Given the description of an element on the screen output the (x, y) to click on. 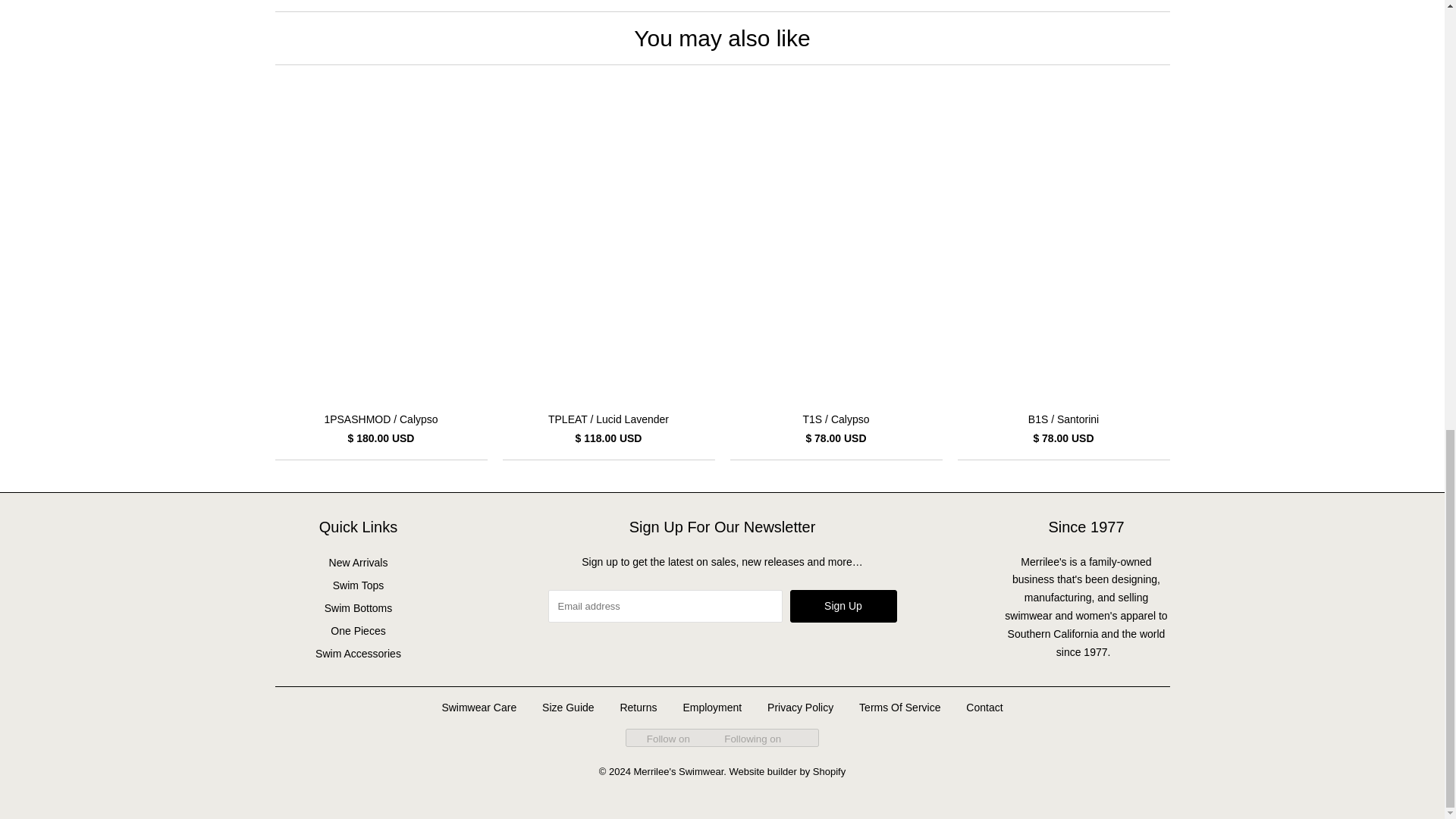
Sign Up (843, 605)
